Given the description of an element on the screen output the (x, y) to click on. 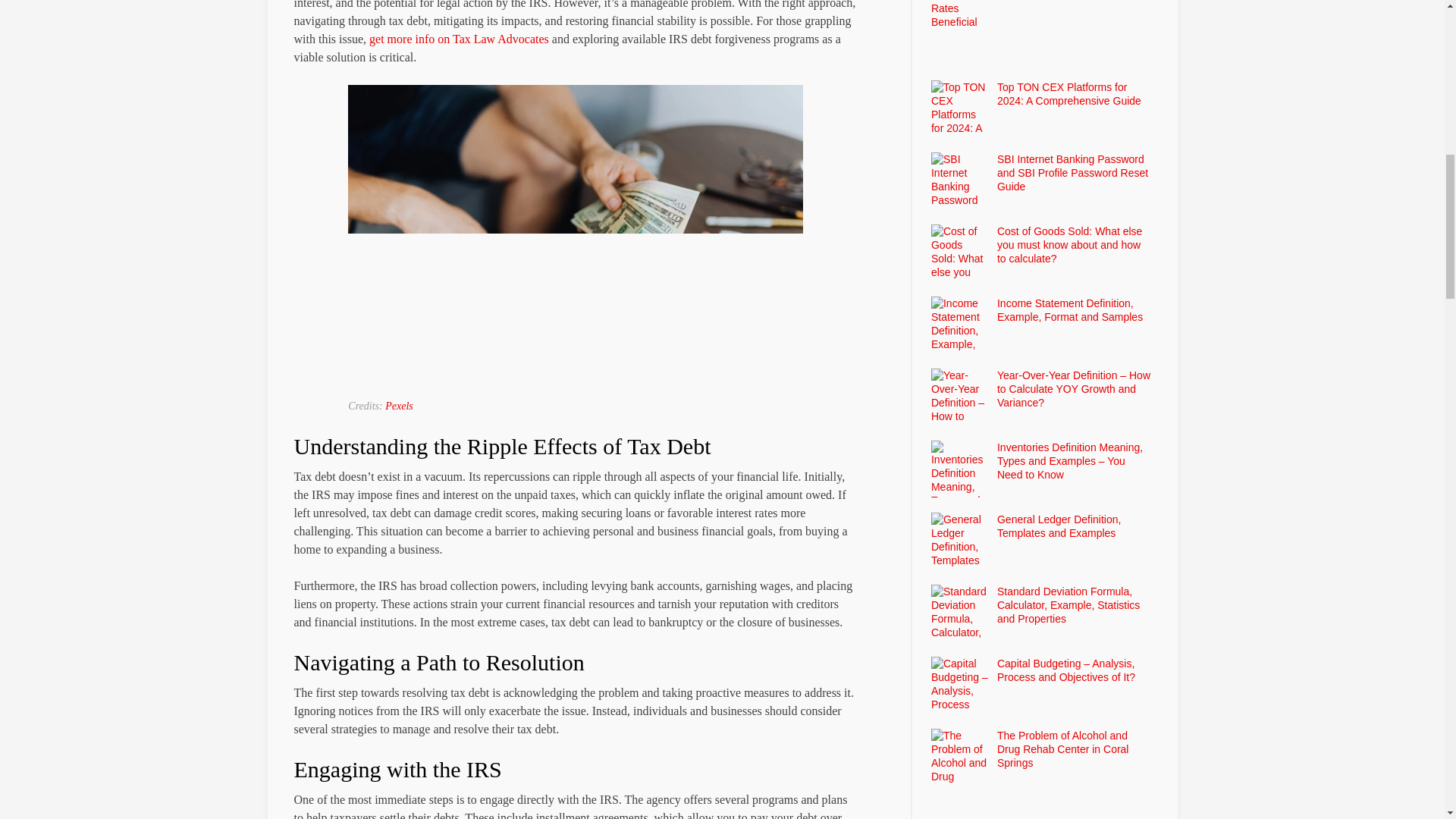
Pexels (399, 405)
get more info on Tax Law Advocates (458, 38)
